Given the description of an element on the screen output the (x, y) to click on. 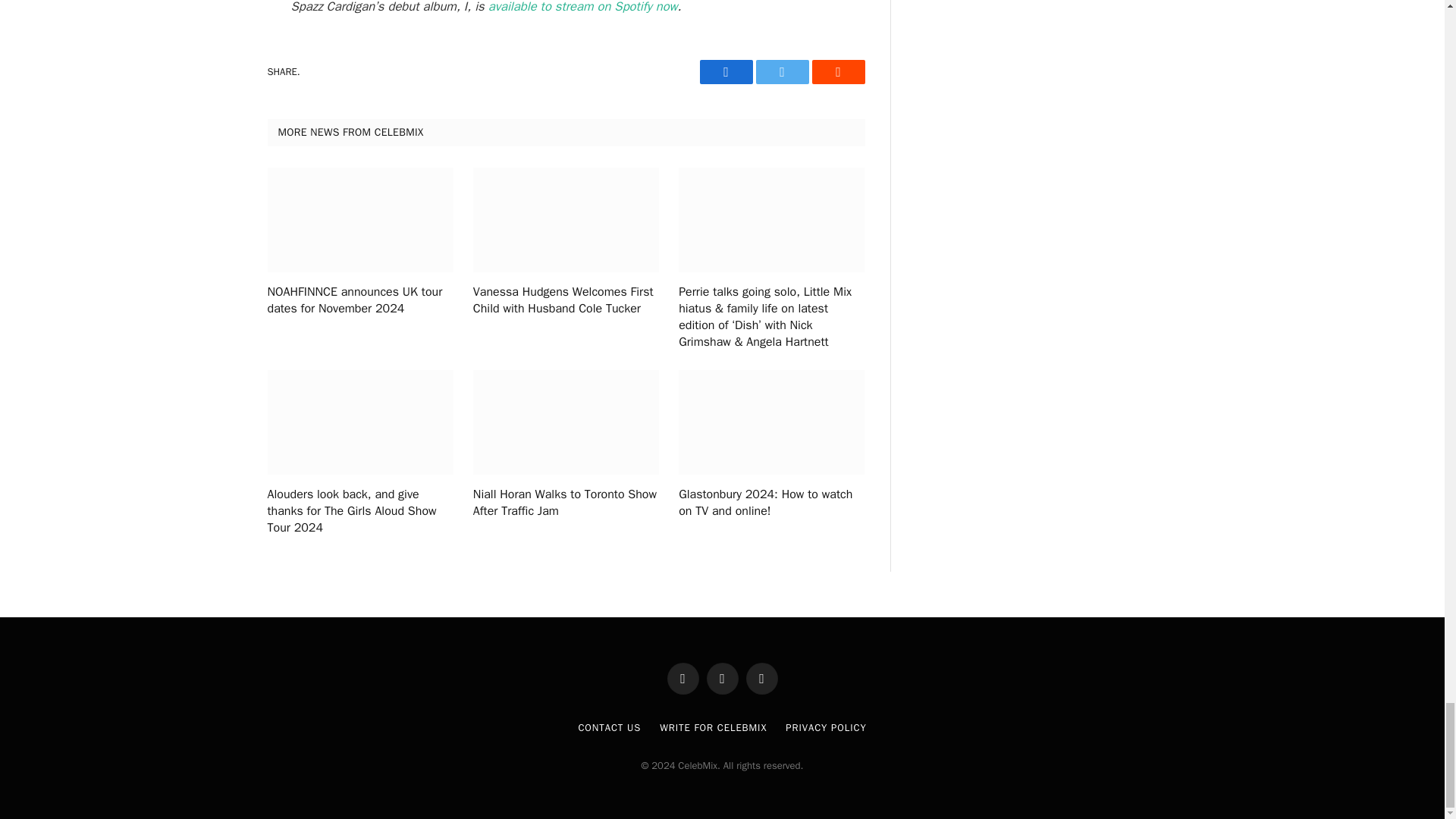
Twitter (781, 71)
available to stream on Spotify now (582, 7)
Facebook (725, 71)
NOAHFINNCE announces UK tour dates for November 2024 (359, 300)
Reddit (837, 71)
